Given the description of an element on the screen output the (x, y) to click on. 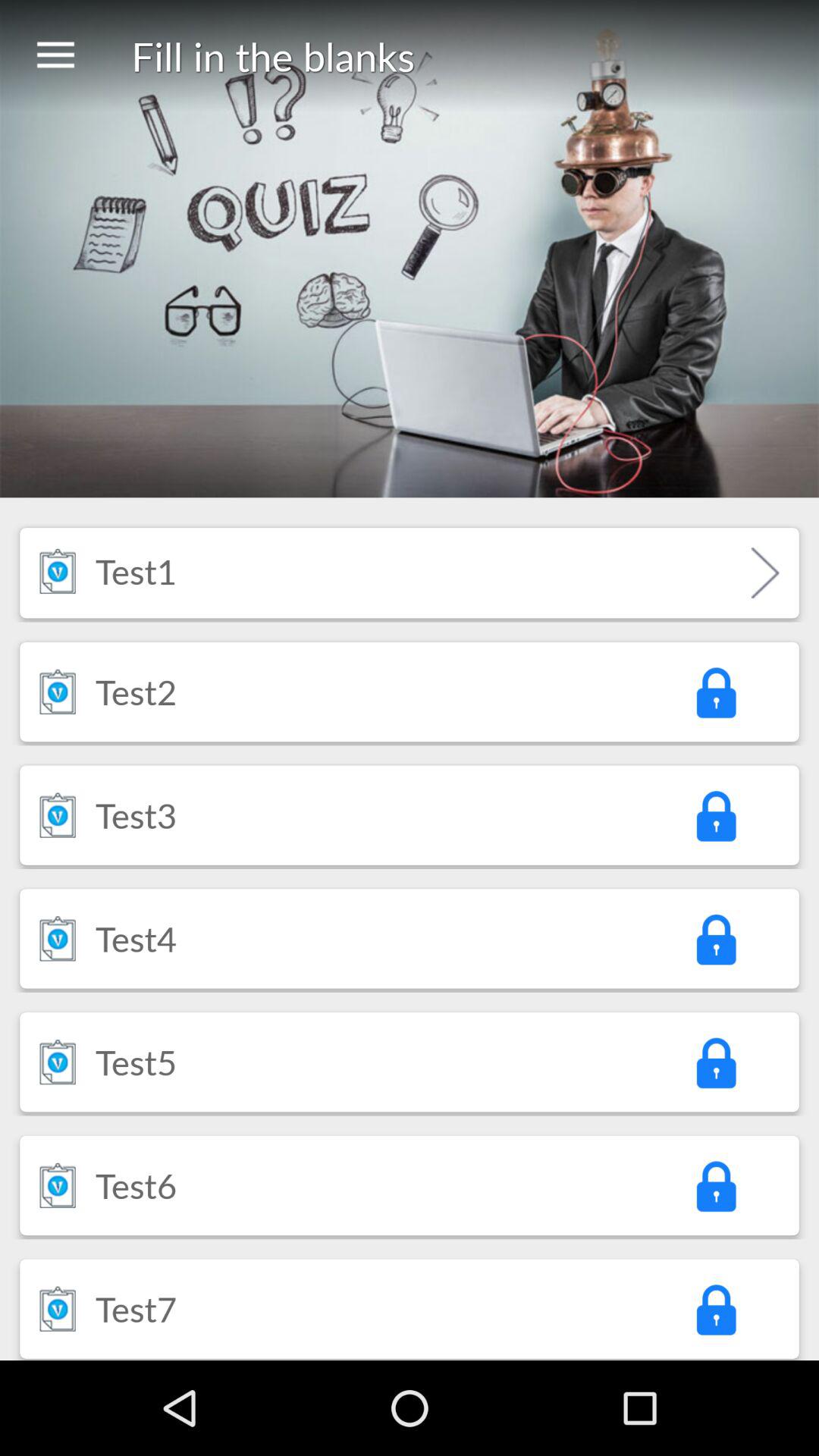
open the item above test3 (135, 691)
